Given the description of an element on the screen output the (x, y) to click on. 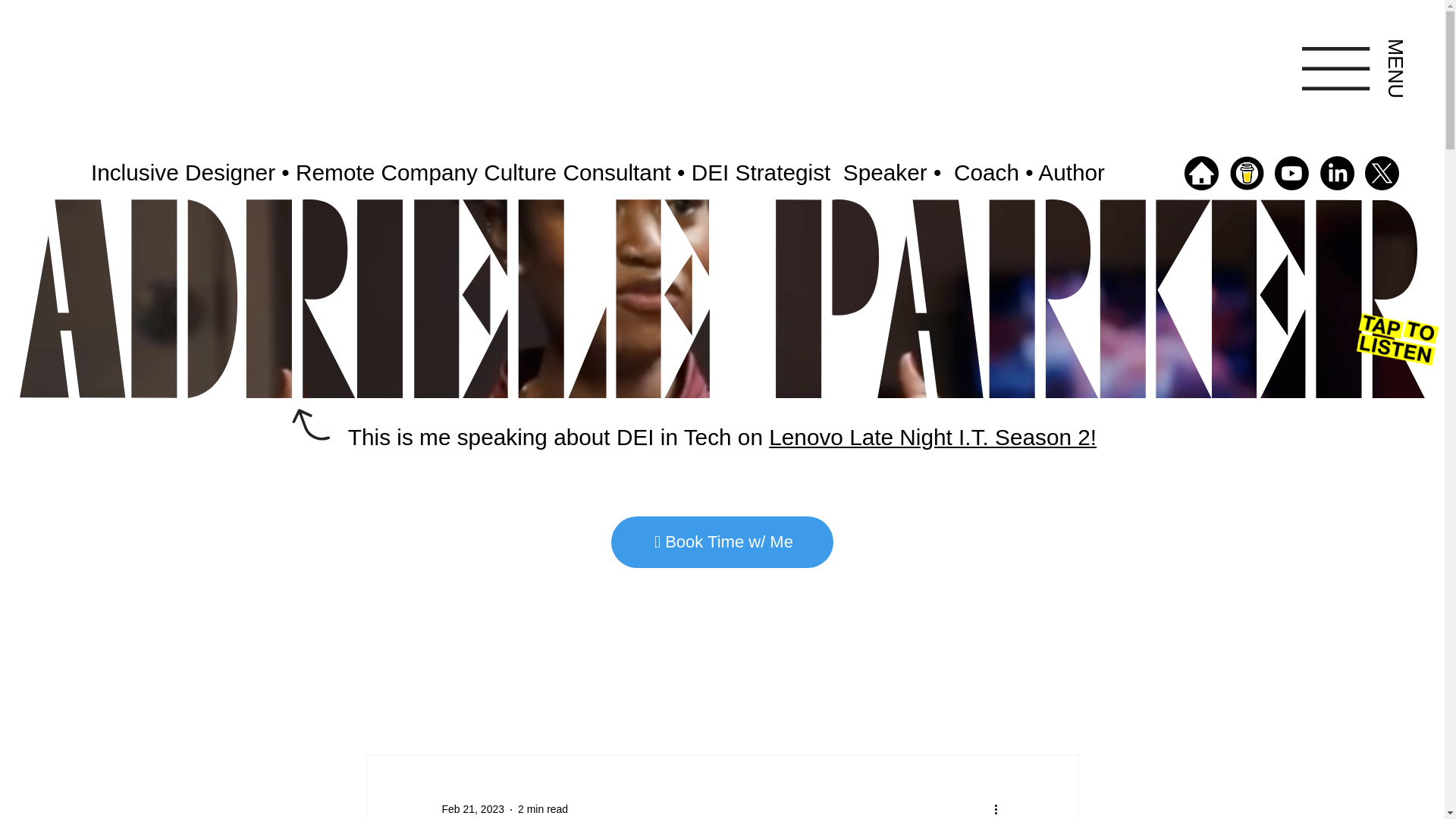
Feb 21, 2023 (472, 808)
2 min read (542, 808)
Lenovo Late Night I.T. Season 2! (932, 437)
